Given the description of an element on the screen output the (x, y) to click on. 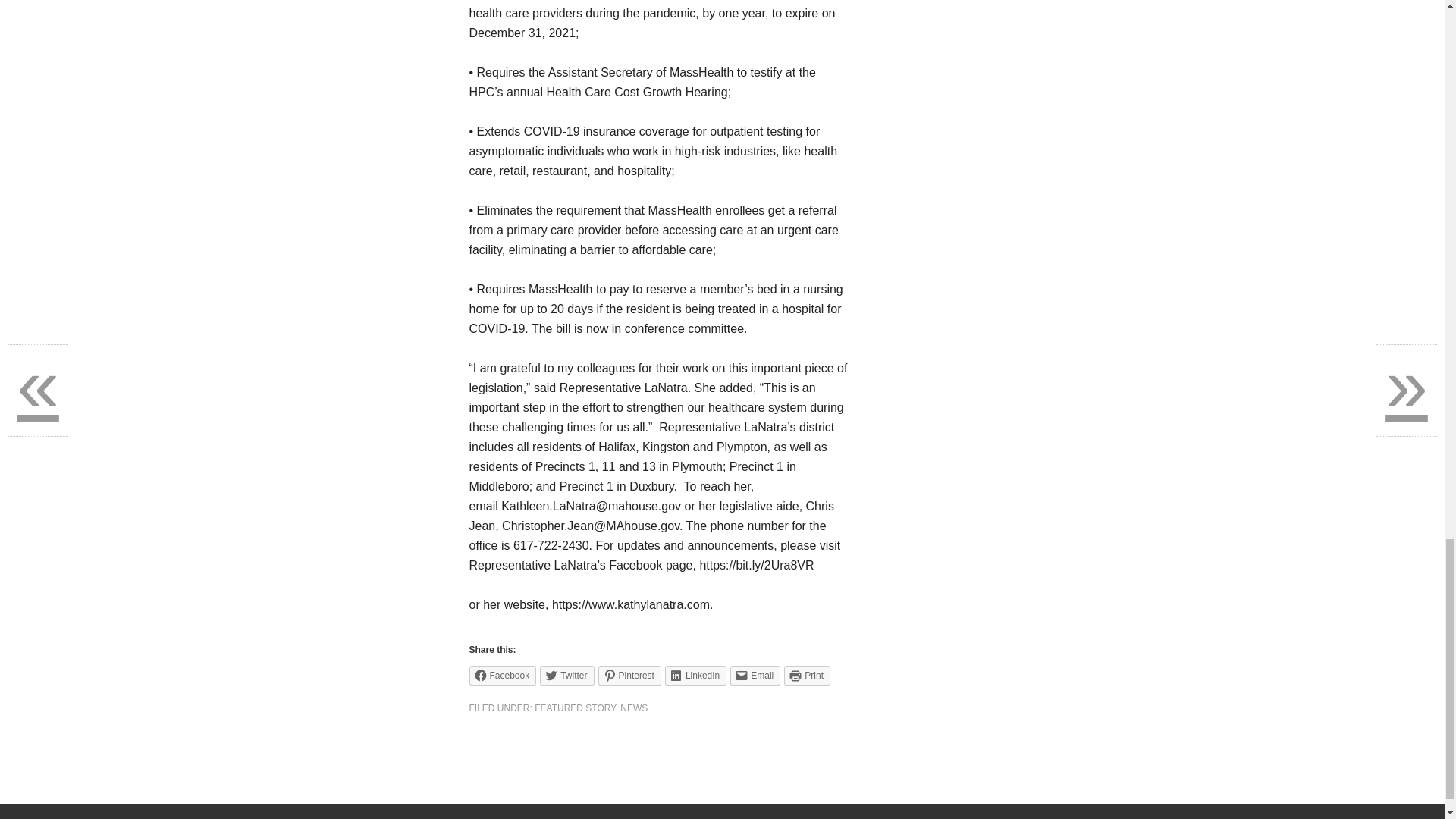
Click to share on LinkedIn (695, 675)
Facebook (501, 675)
Click to share on Twitter (567, 675)
Click to email a link to a friend (755, 675)
Click to share on Pinterest (629, 675)
Email (755, 675)
Pinterest (629, 675)
Click to share on Facebook (501, 675)
NEWS (633, 707)
LinkedIn (695, 675)
Click to print (806, 675)
FEATURED STORY (574, 707)
Twitter (567, 675)
Print (806, 675)
